Given the description of an element on the screen output the (x, y) to click on. 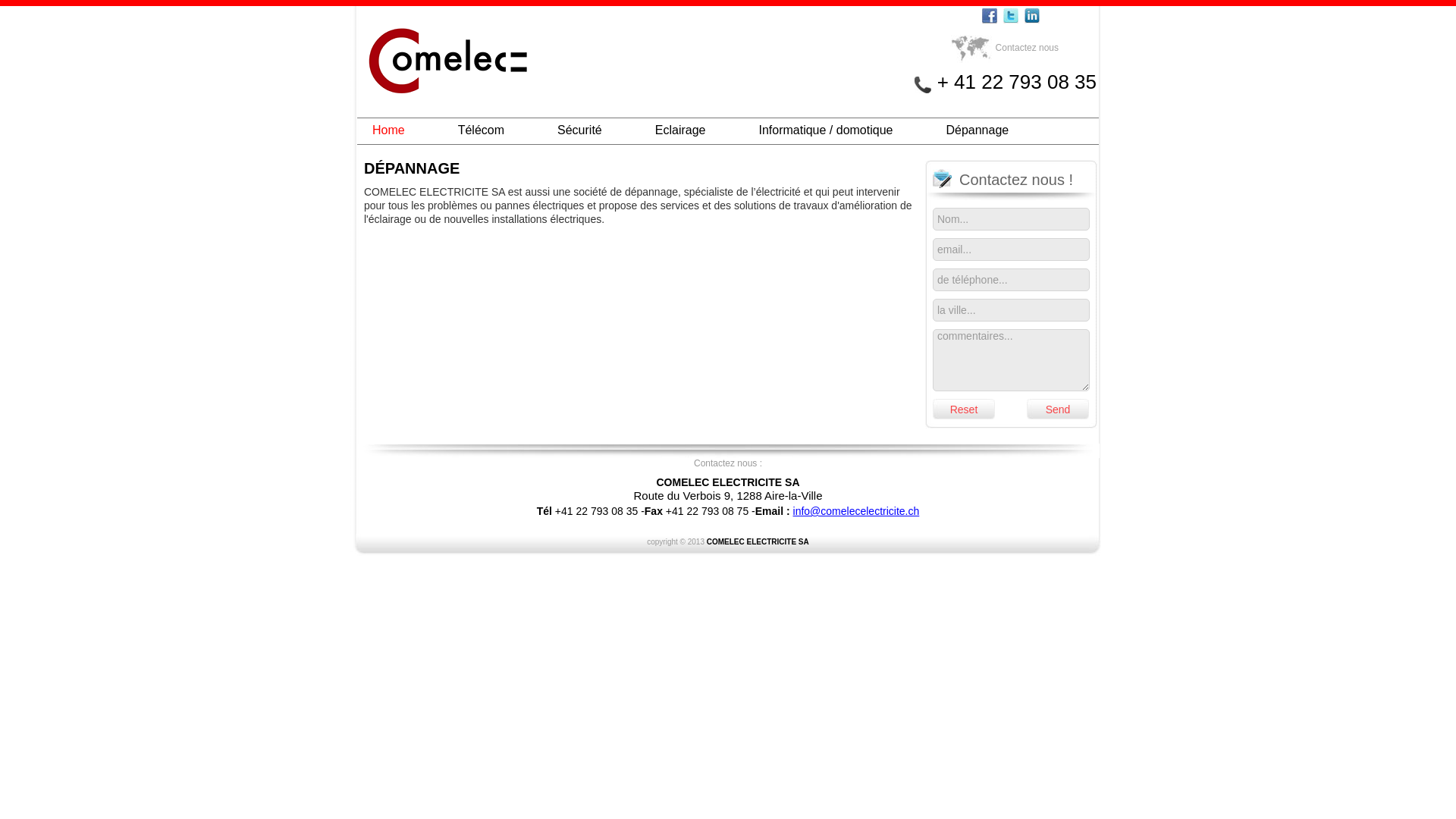
Informatique / domotique Element type: text (825, 129)
Send Element type: text (1057, 408)
info@comelecelectricite.ch Element type: text (856, 511)
Home Element type: text (388, 129)
Eclairage Element type: text (680, 129)
